Given the description of an element on the screen output the (x, y) to click on. 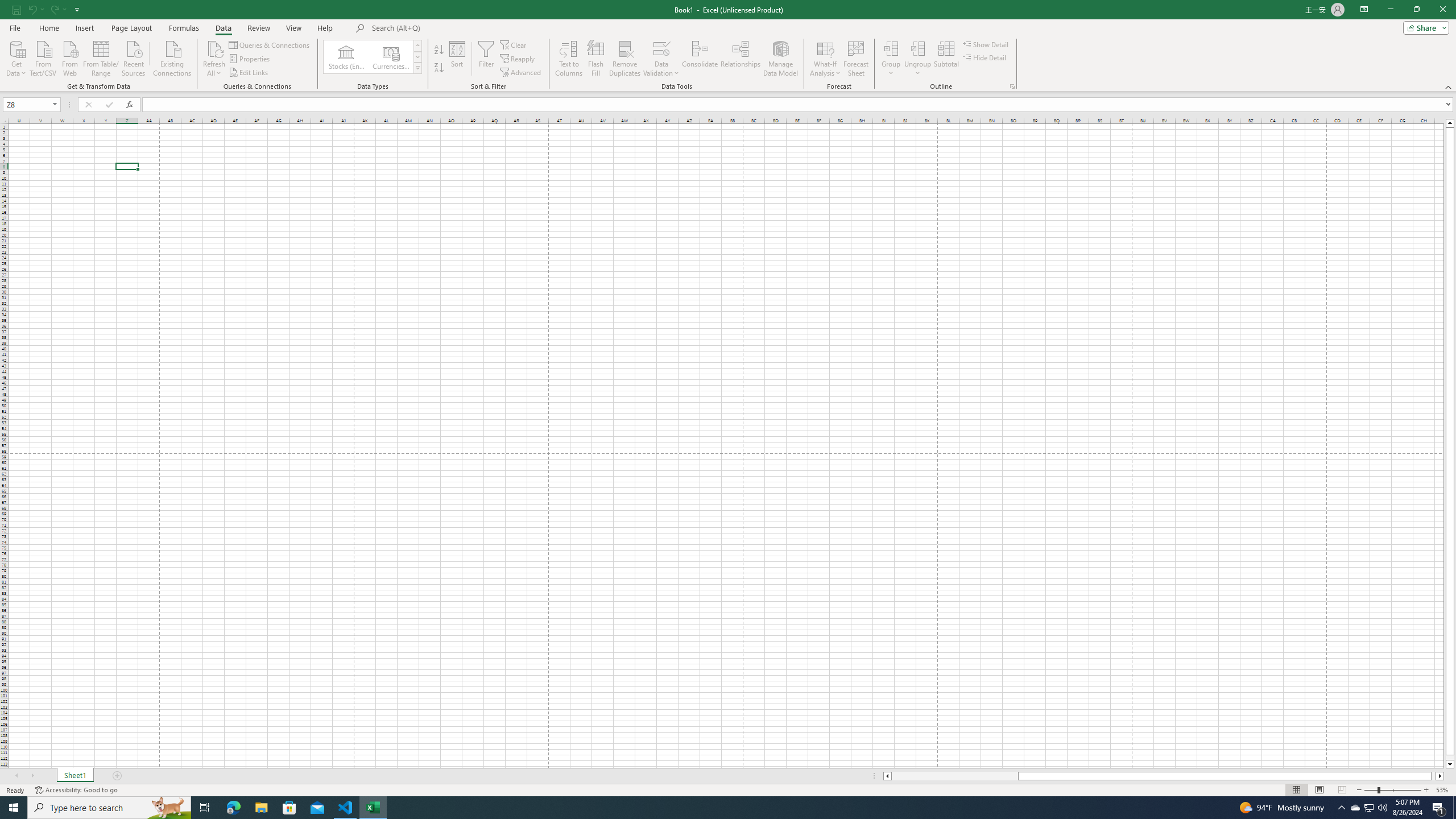
Edit Links (249, 72)
Data Types (417, 67)
From Web (69, 57)
Sort A to Z (438, 49)
